Given the description of an element on the screen output the (x, y) to click on. 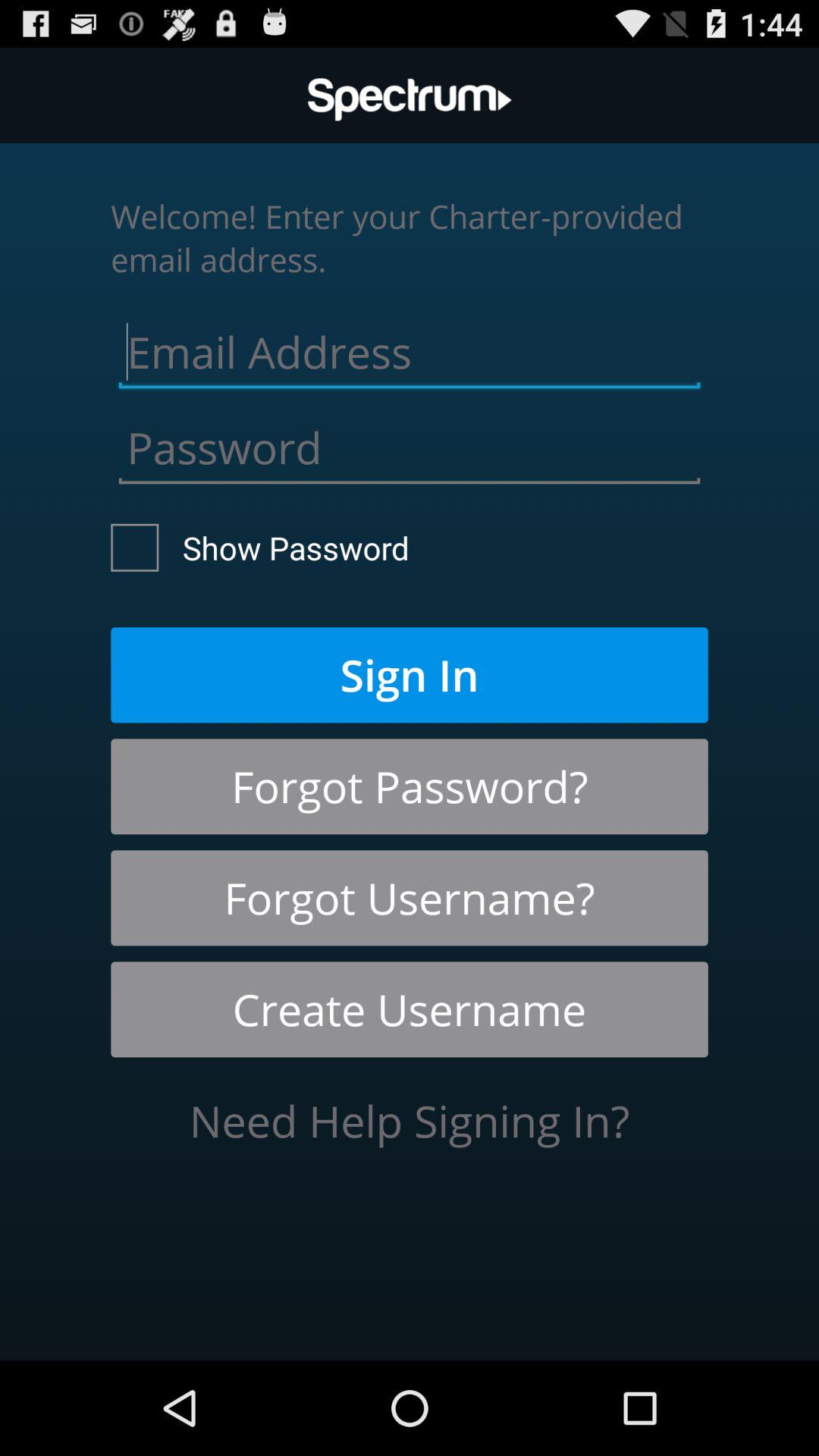
flip to sign in item (409, 674)
